Given the description of an element on the screen output the (x, y) to click on. 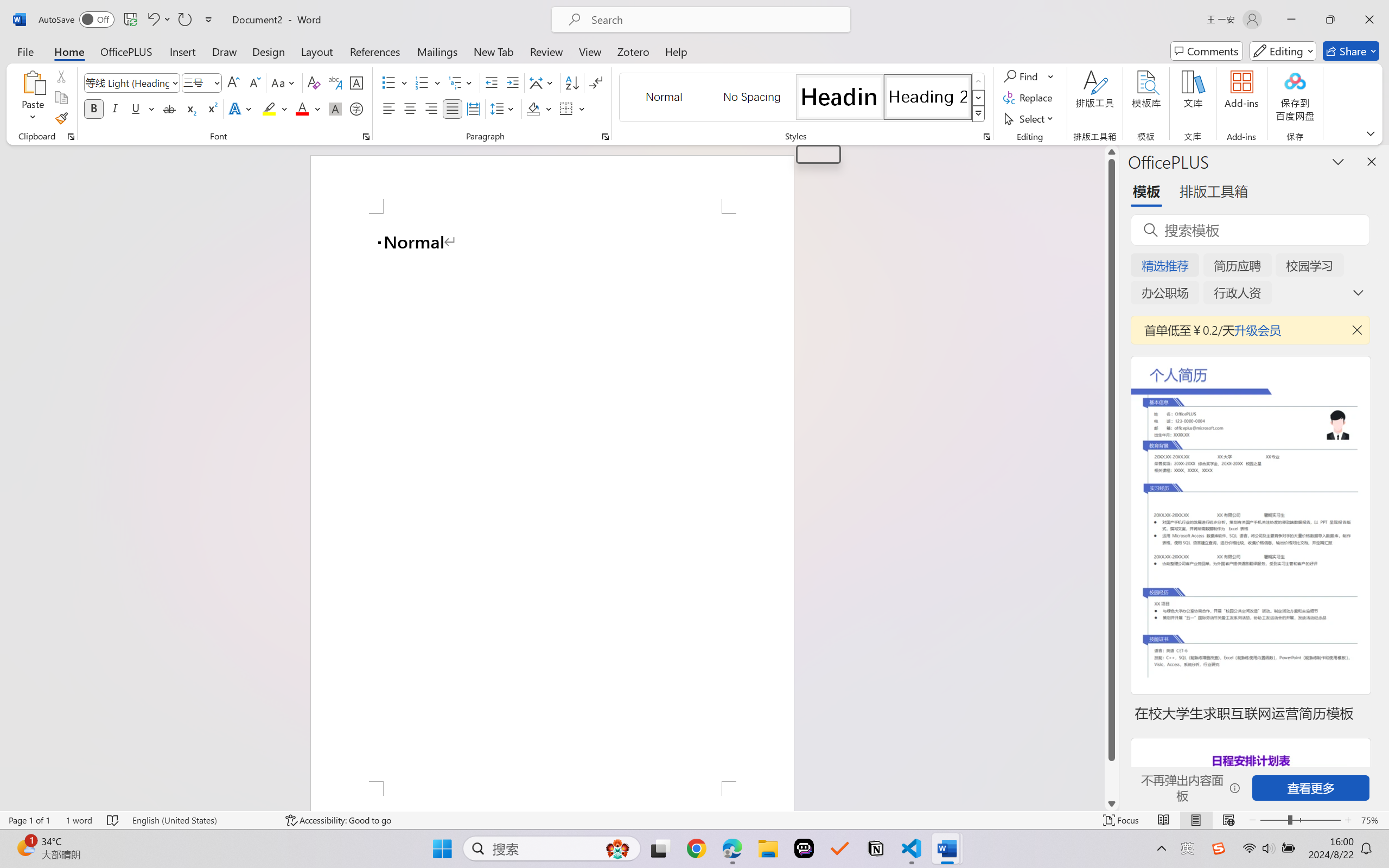
Paragraph... (605, 136)
Sort... (571, 82)
Heading 1 (839, 96)
Multilevel List (461, 82)
Decrease Indent (491, 82)
Home (69, 51)
Text Highlight Color (274, 108)
Underline (135, 108)
View (589, 51)
Font Size (196, 82)
Shrink Font (253, 82)
Font Color (308, 108)
Comments (1206, 50)
